Given the description of an element on the screen output the (x, y) to click on. 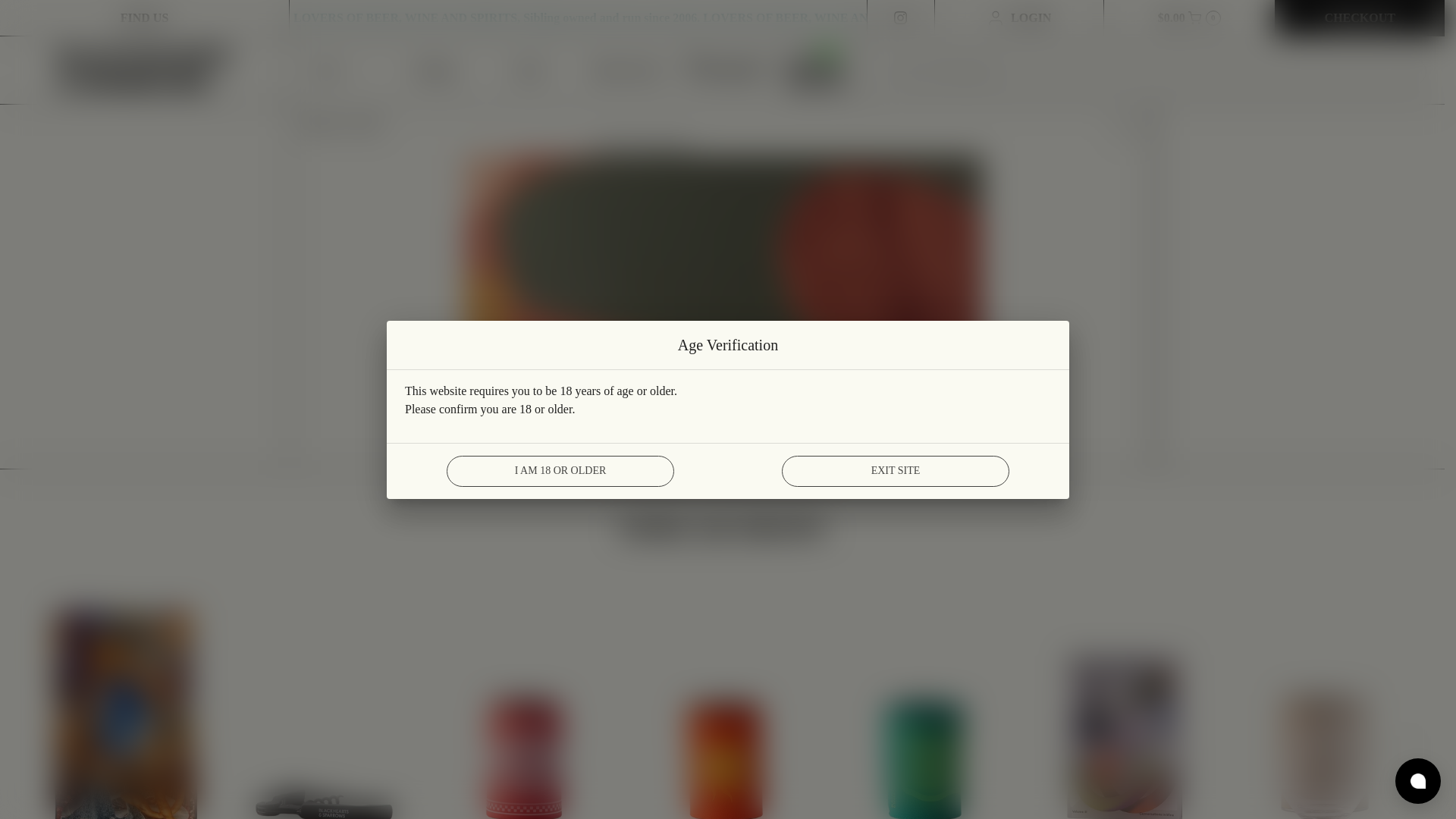
CHECKOUT (1360, 18)
HOME (319, 124)
ADD TO WISHLIST (642, 149)
Tastings (433, 70)
LOGIN (1018, 18)
Drinks Guide (626, 70)
FIND US (144, 18)
SHOP (364, 124)
Stores (529, 70)
Shop (337, 70)
